Given the description of an element on the screen output the (x, y) to click on. 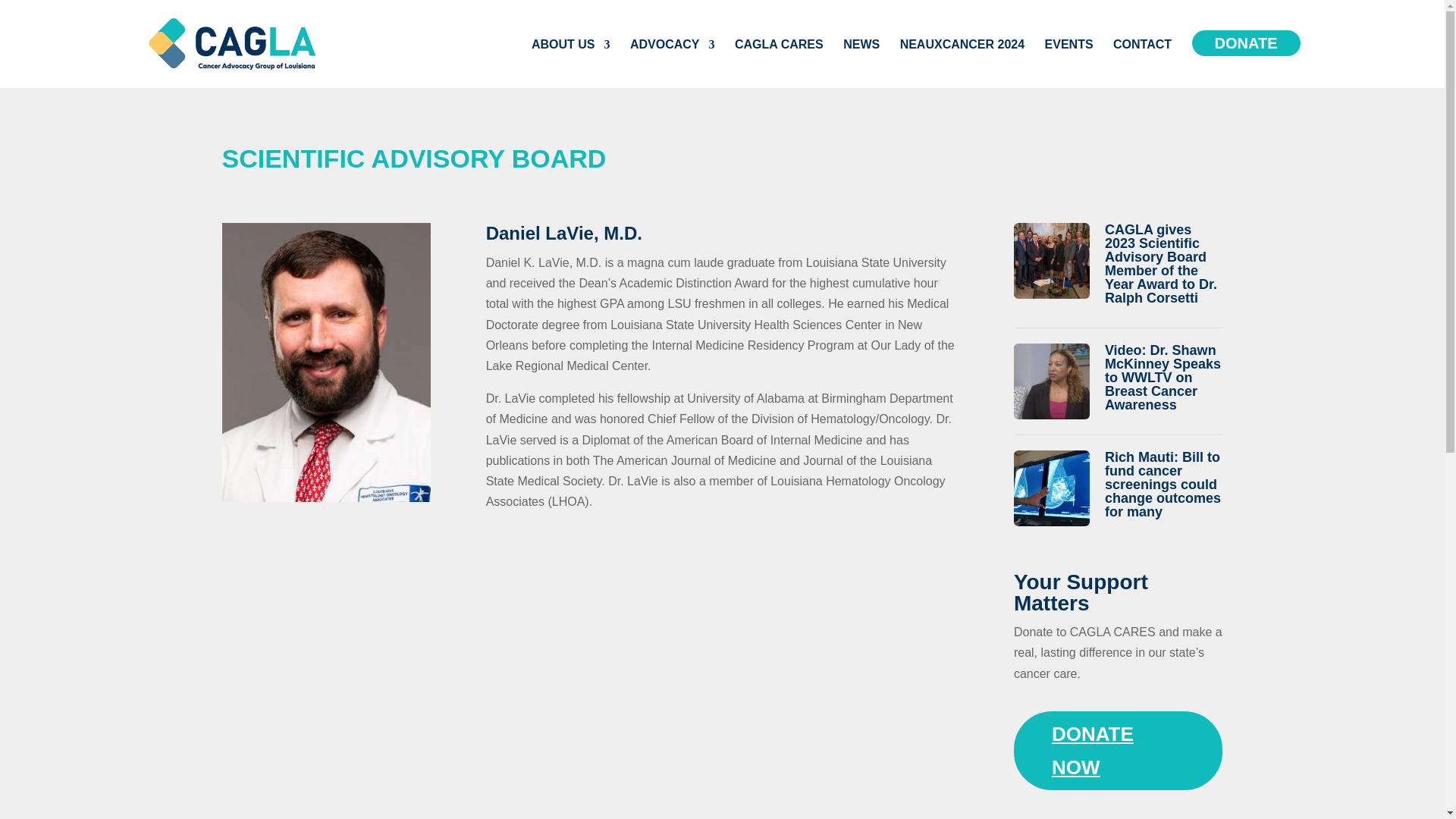
EVENTS (1069, 63)
CONTACT (1142, 63)
CAGLA CARES (779, 63)
ADVOCACY (672, 63)
DONATE (1246, 58)
ABOUT US (570, 63)
NEAUXCANCER 2024 (962, 63)
DONATE NOW (1118, 750)
